Given the description of an element on the screen output the (x, y) to click on. 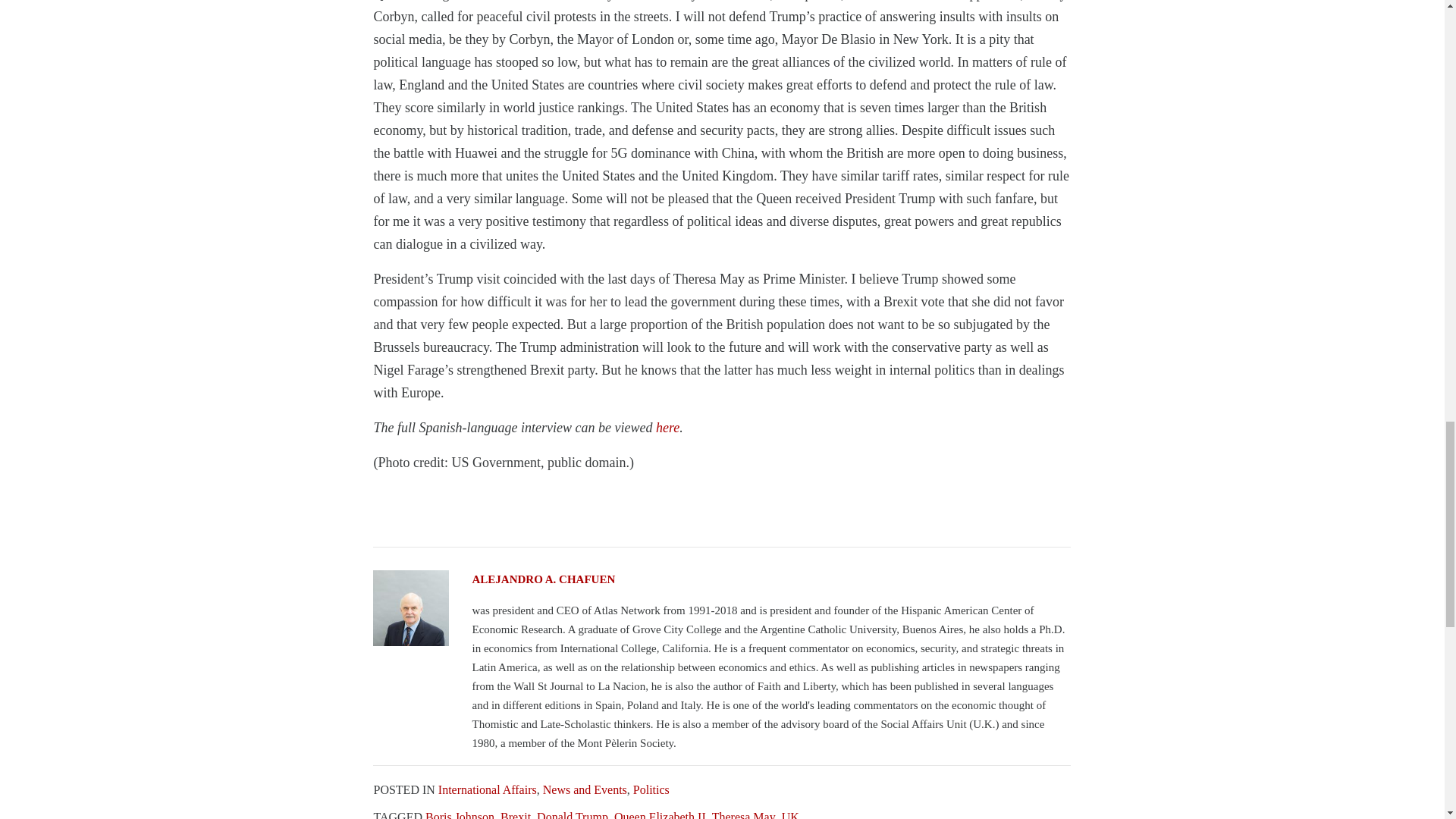
Boris Johnson (460, 814)
Theresa May (743, 814)
UK (790, 814)
here (667, 427)
Politics (651, 788)
News and Events (585, 788)
Donald Trump (572, 814)
International Affairs (487, 788)
ALEJANDRO A. CHAFUEN (721, 579)
Brexit (515, 814)
Queen Elizabeth II (660, 814)
